Given the description of an element on the screen output the (x, y) to click on. 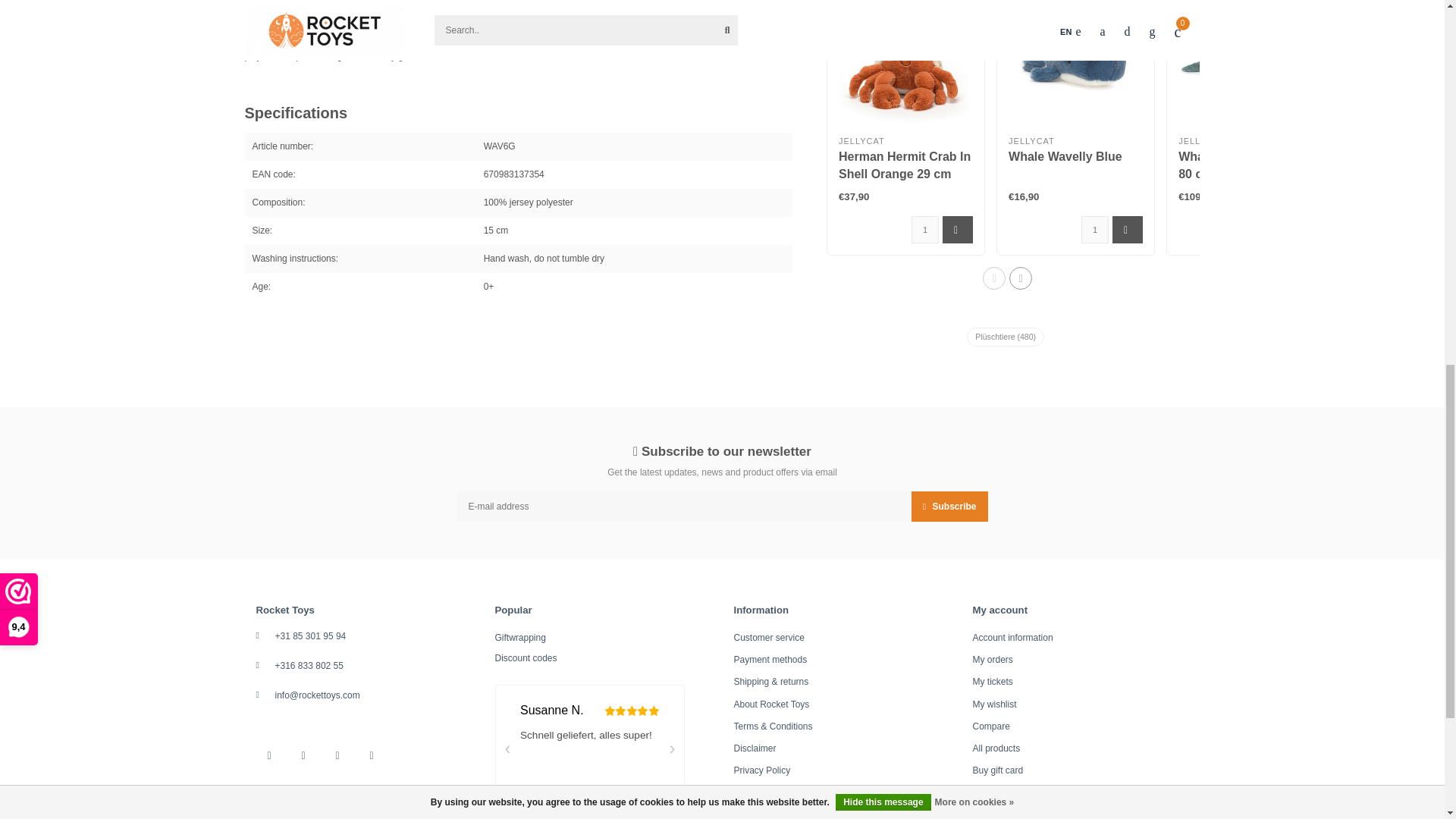
Jellycat Herman Hermit Crab In Shell Orange 29 cm (905, 62)
Jellycat Whale Wavelly Blue (1065, 155)
Jellycat Whale Wiley Blue Huge 80 cm (1245, 62)
1 (925, 229)
Jellycat Whale Wiley Blue Huge 80 cm (1245, 164)
Jellycat Herman Hermit Crab In Shell Orange 29 cm (904, 164)
Jellycat Whale Wavelly Blue (1075, 62)
1 (1094, 229)
